Given the description of an element on the screen output the (x, y) to click on. 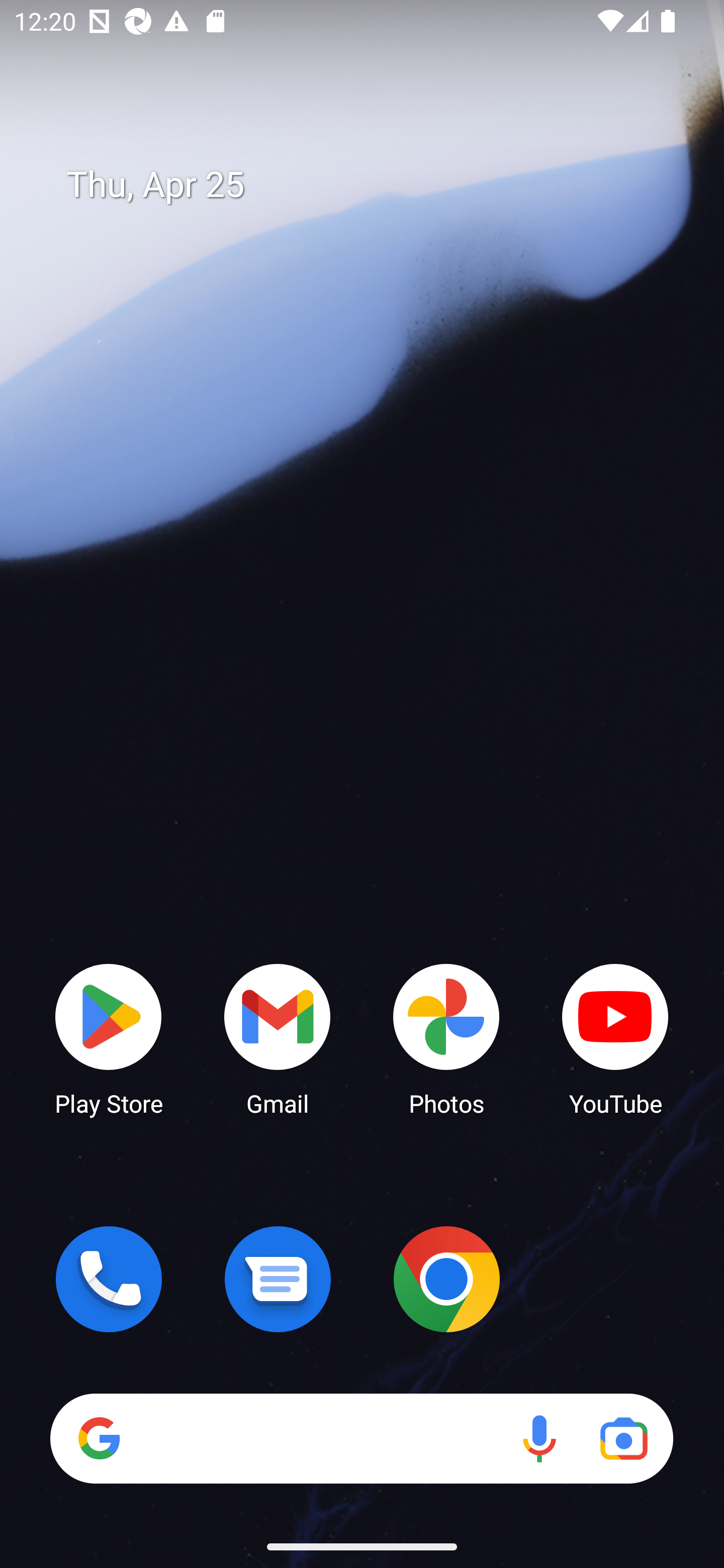
Thu, Apr 25 (375, 184)
Play Store (108, 1038)
Gmail (277, 1038)
Photos (445, 1038)
YouTube (615, 1038)
Phone (108, 1279)
Messages (277, 1279)
Chrome (446, 1279)
Search Voice search Google Lens (361, 1438)
Voice search (539, 1438)
Google Lens (623, 1438)
